Given the description of an element on the screen output the (x, y) to click on. 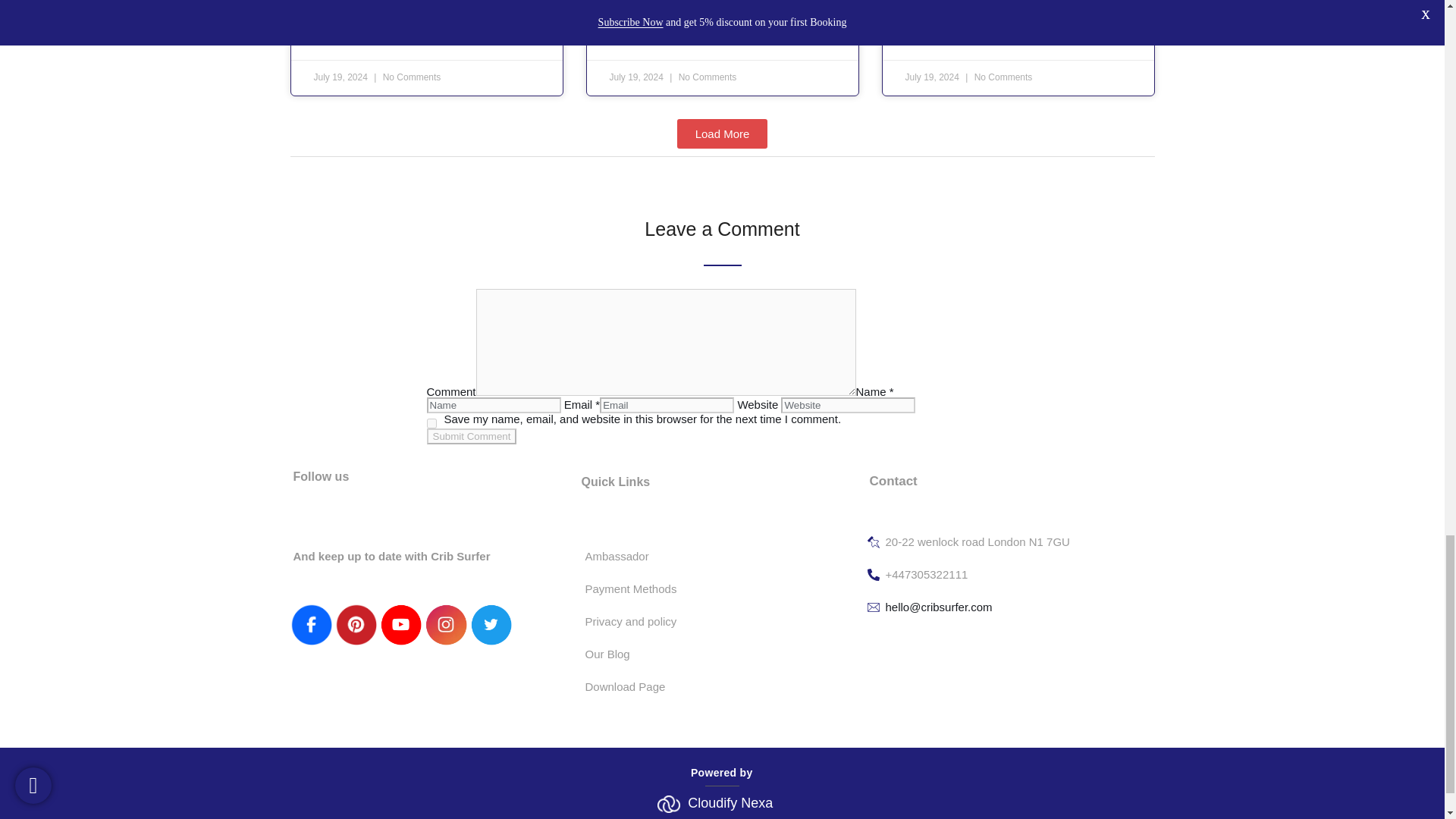
Submit Comment (471, 436)
yes (430, 423)
